Given the description of an element on the screen output the (x, y) to click on. 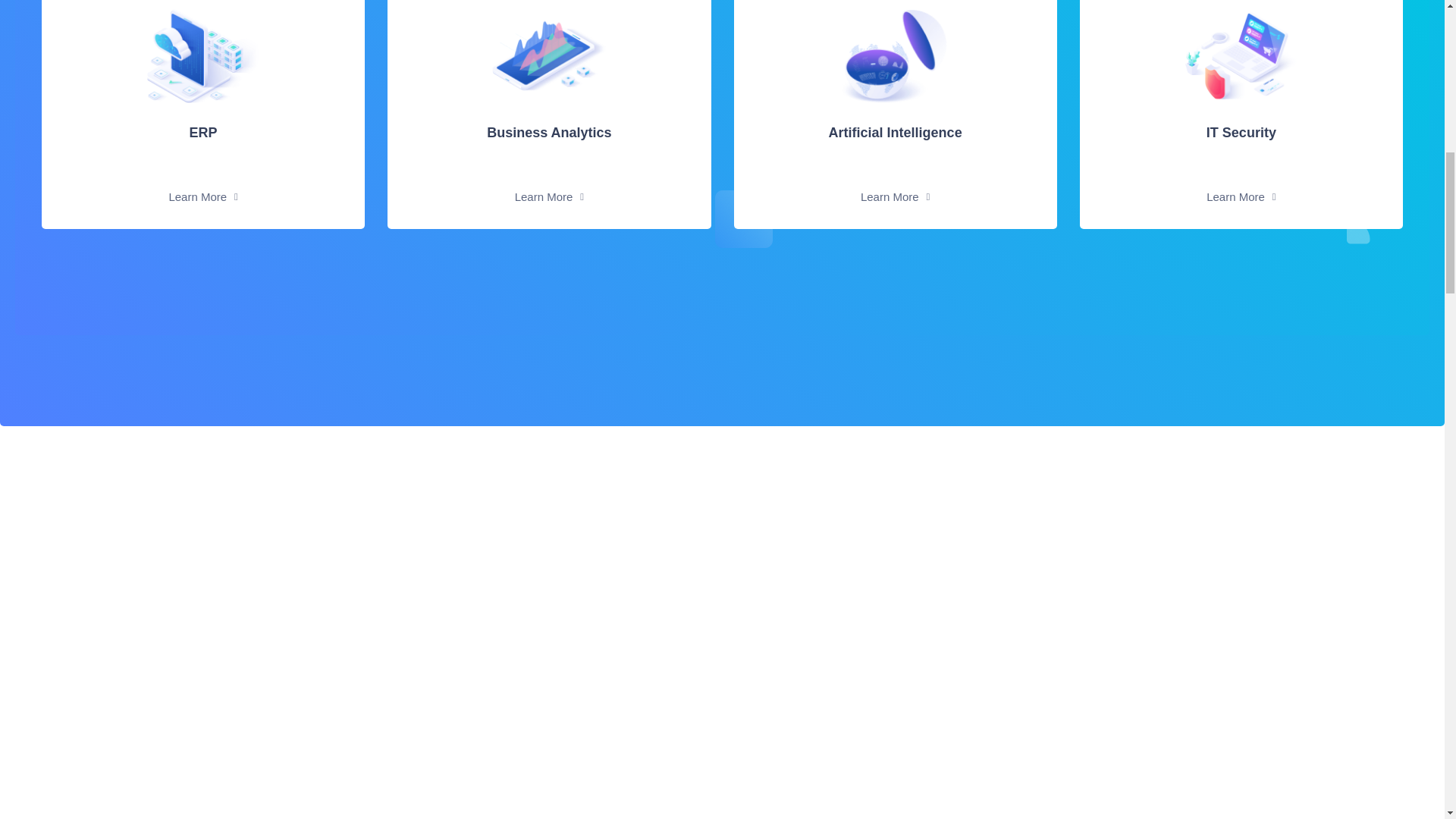
Learn More (1393, 197)
Learn More (202, 347)
Learn More (549, 332)
Learn More (724, 197)
